Given the description of an element on the screen output the (x, y) to click on. 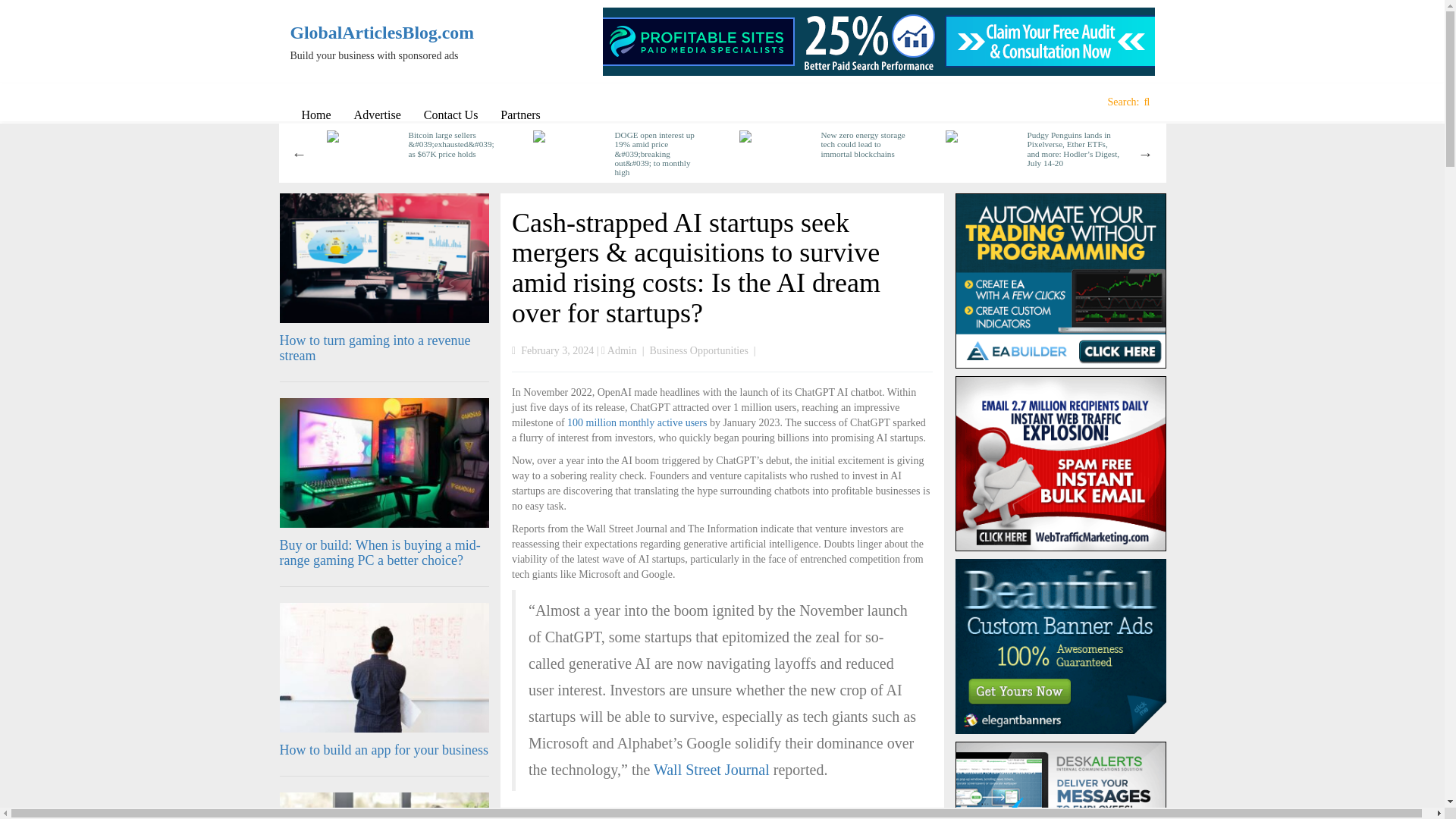
Previous (298, 153)
Advertise (377, 115)
Partners (520, 115)
Posts by Admin (622, 350)
Home (315, 115)
GlobalArticlesBlog.com (389, 32)
Contact Us (450, 115)
